Given the description of an element on the screen output the (x, y) to click on. 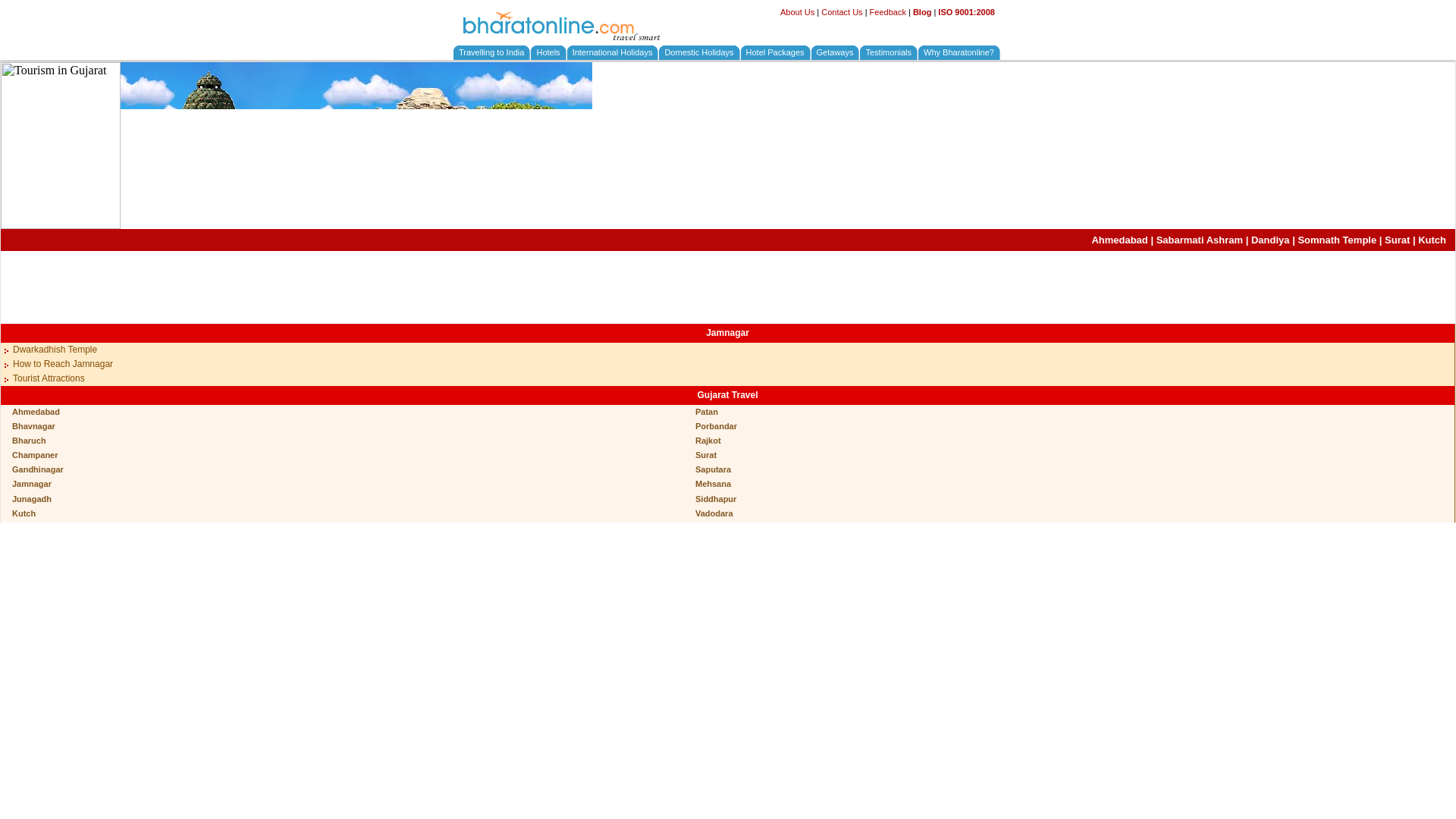
Surat (1396, 239)
Saputara (712, 469)
Blog (921, 11)
Bharuch (28, 440)
Jamnagar (727, 332)
About Us (796, 11)
Champaner (34, 454)
Gujarat Travel (727, 394)
Bhavnagar (33, 425)
International Holidays (612, 51)
Porbandar (715, 425)
Kutch (1431, 239)
Mehsana (712, 483)
Vadodara (714, 512)
Domestic Holidays (698, 51)
